Given the description of an element on the screen output the (x, y) to click on. 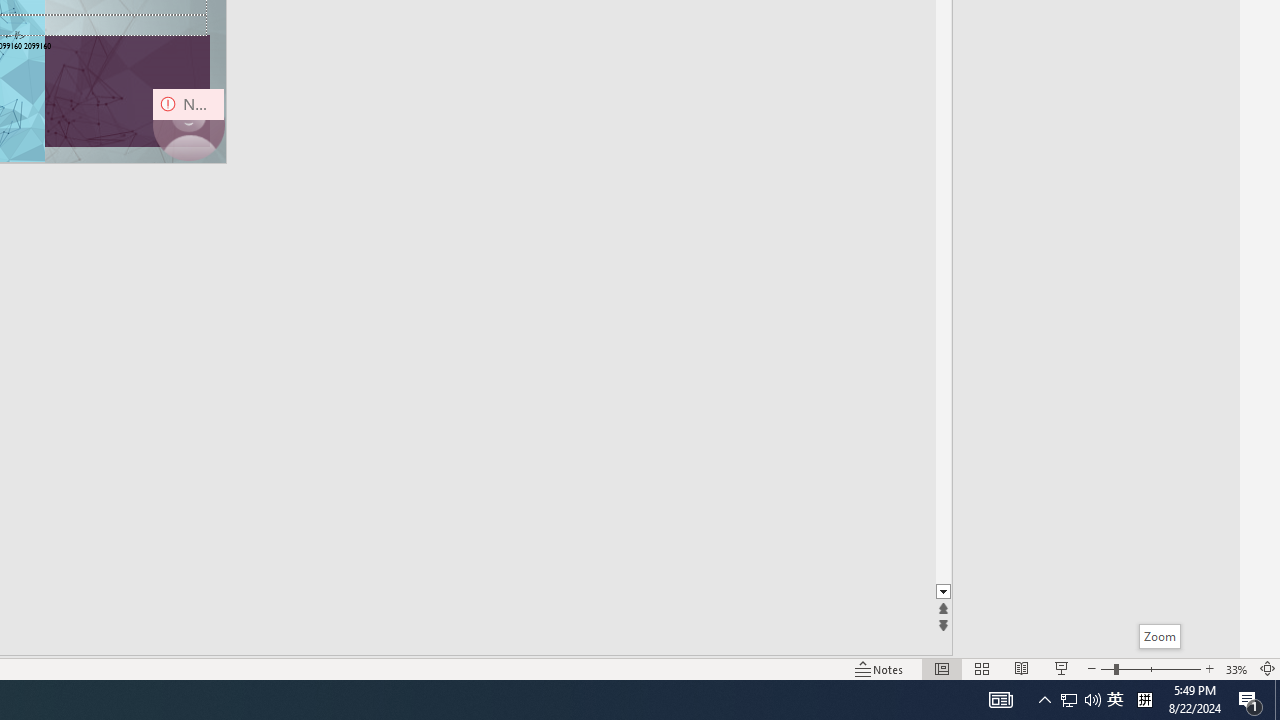
Zoom 33% (1236, 668)
Camera 16, No camera detected. (188, 124)
TextBox 7 (15, 36)
